Given the description of an element on the screen output the (x, y) to click on. 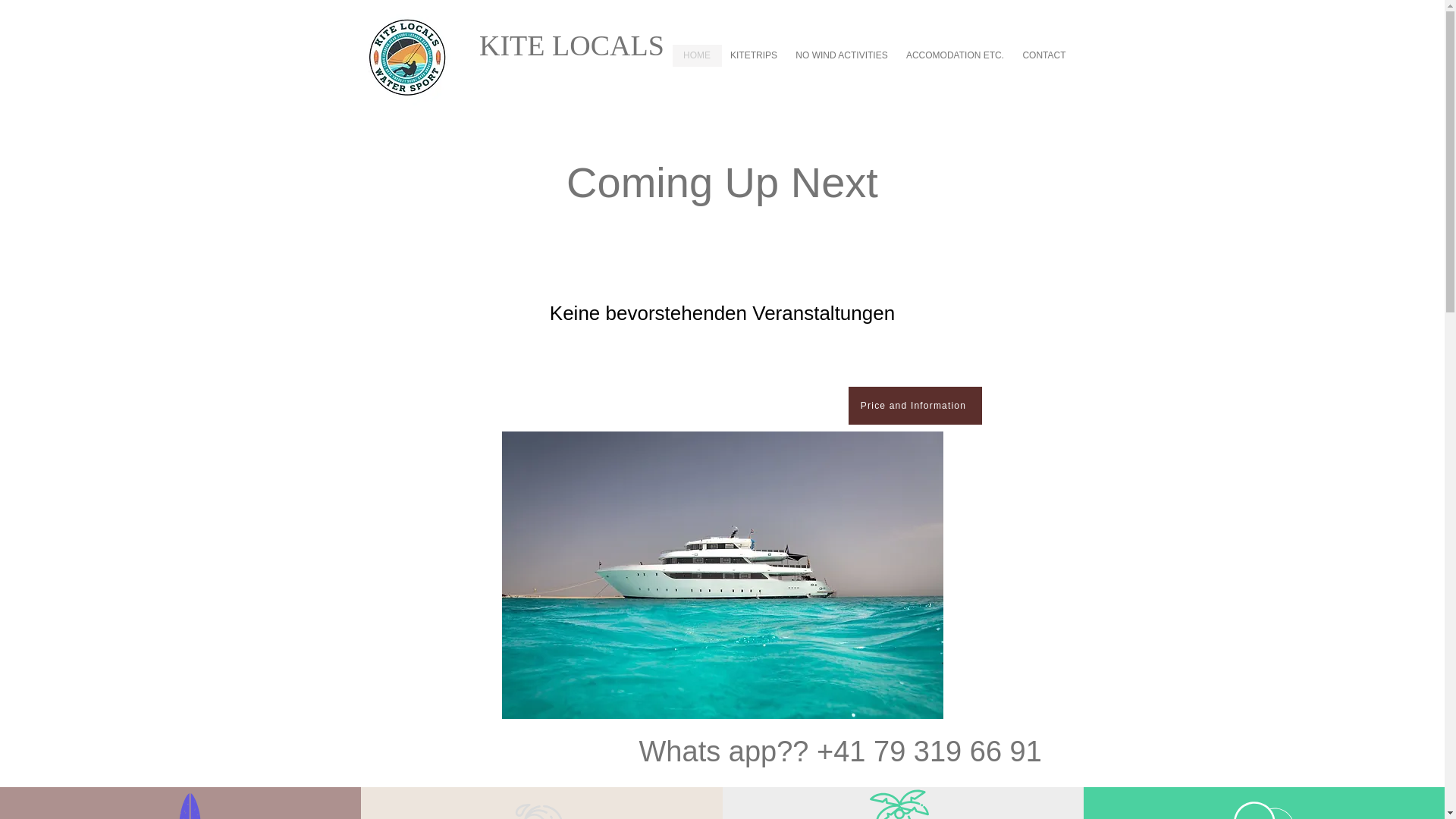
NO WIND ACTIVITIES (841, 55)
        KITE LOCALS (538, 45)
Price and Information (914, 405)
KITETRIPS (754, 55)
CONTACT (1044, 55)
HOME (695, 55)
ACCOMODATION ETC. (955, 55)
